Given the description of an element on the screen output the (x, y) to click on. 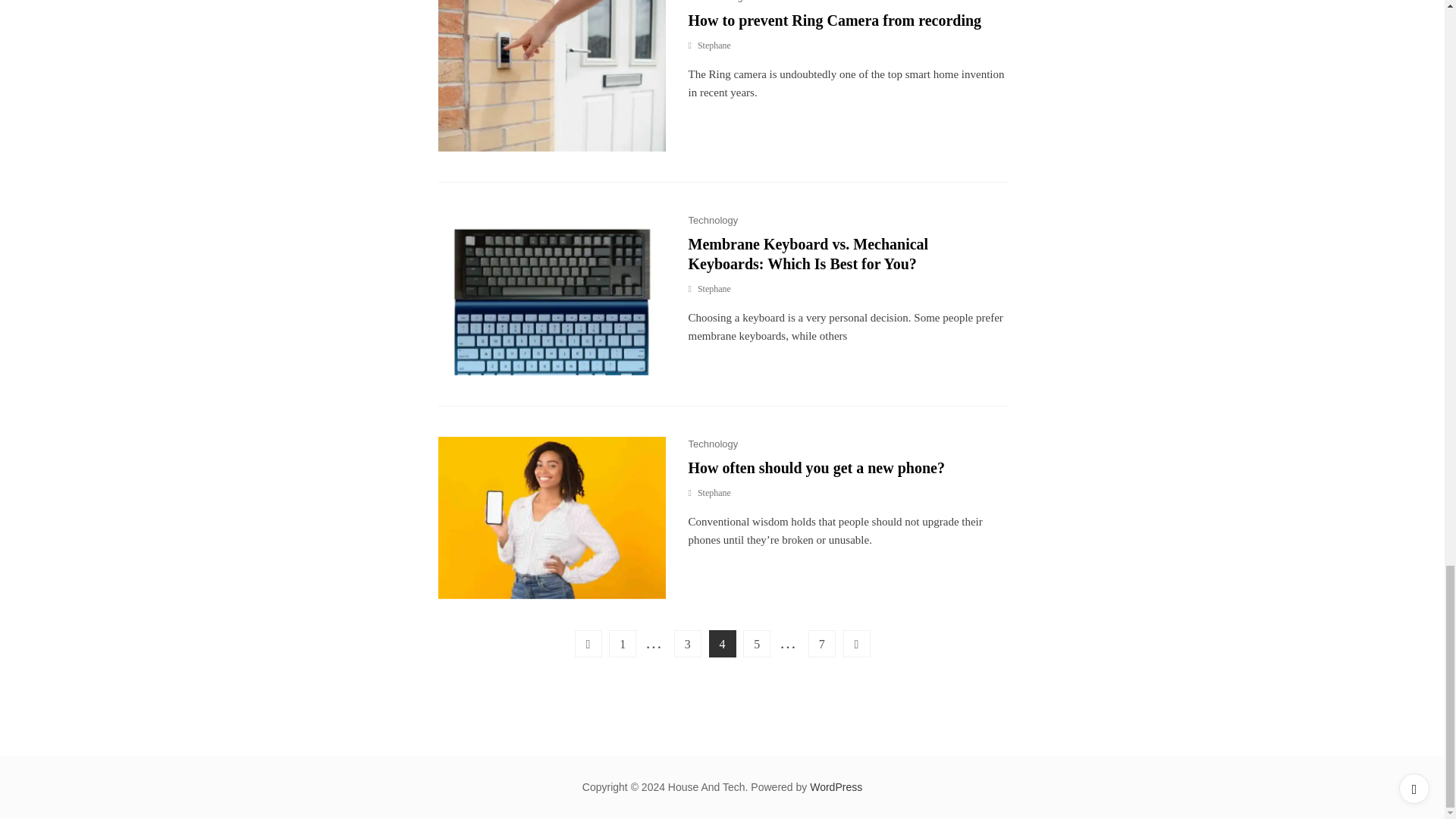
ring doorbell (551, 75)
membranekeyboard (551, 293)
1 1 (551, 517)
